Given the description of an element on the screen output the (x, y) to click on. 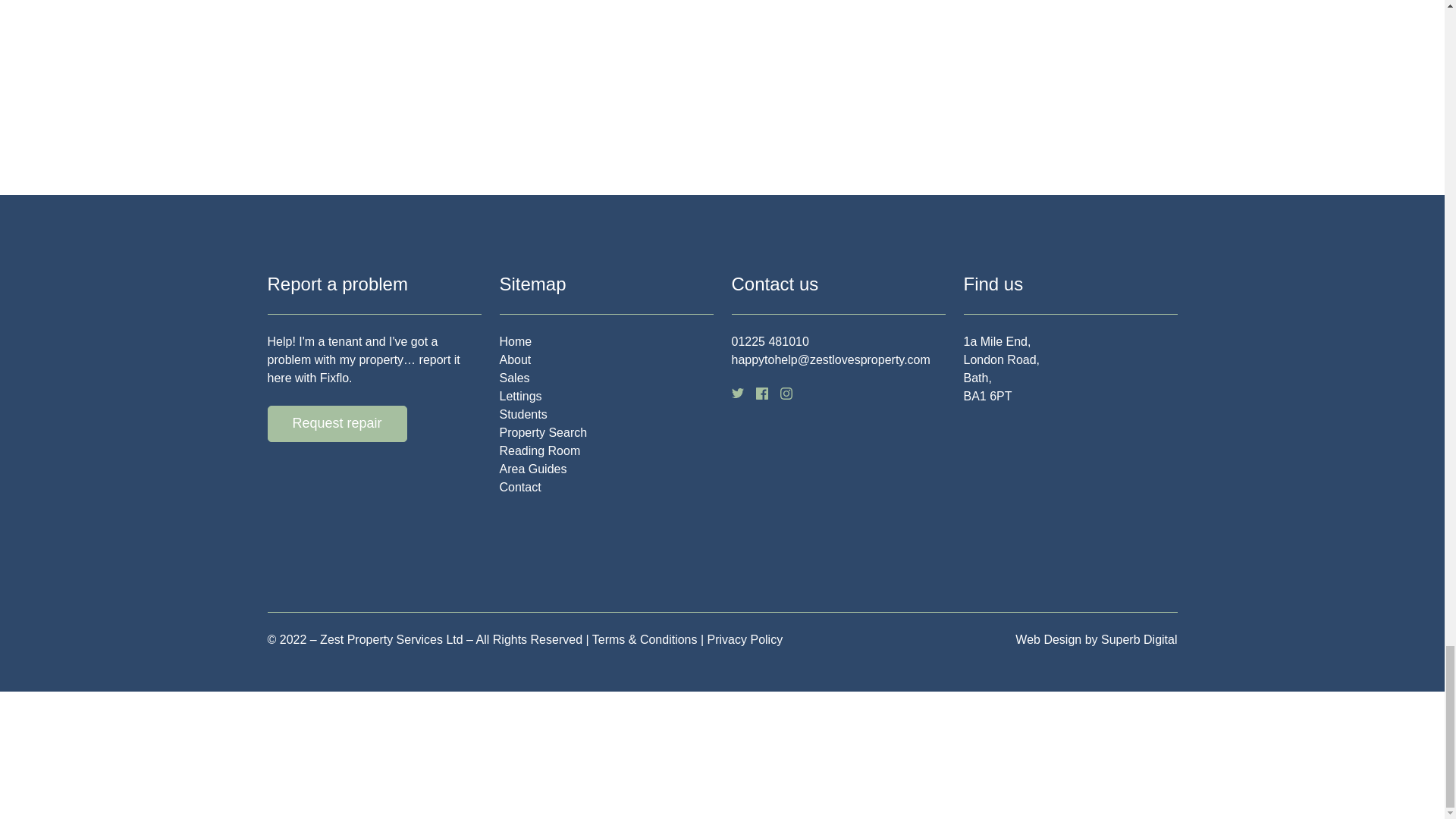
Request repair (336, 423)
Lettings (520, 396)
Property Search (542, 432)
Web Design by Superb Digital (1095, 640)
01225 481010 (769, 341)
Privacy Policy (745, 640)
Home (515, 341)
Contact (519, 487)
About (515, 359)
Sales (514, 377)
